Given the description of an element on the screen output the (x, y) to click on. 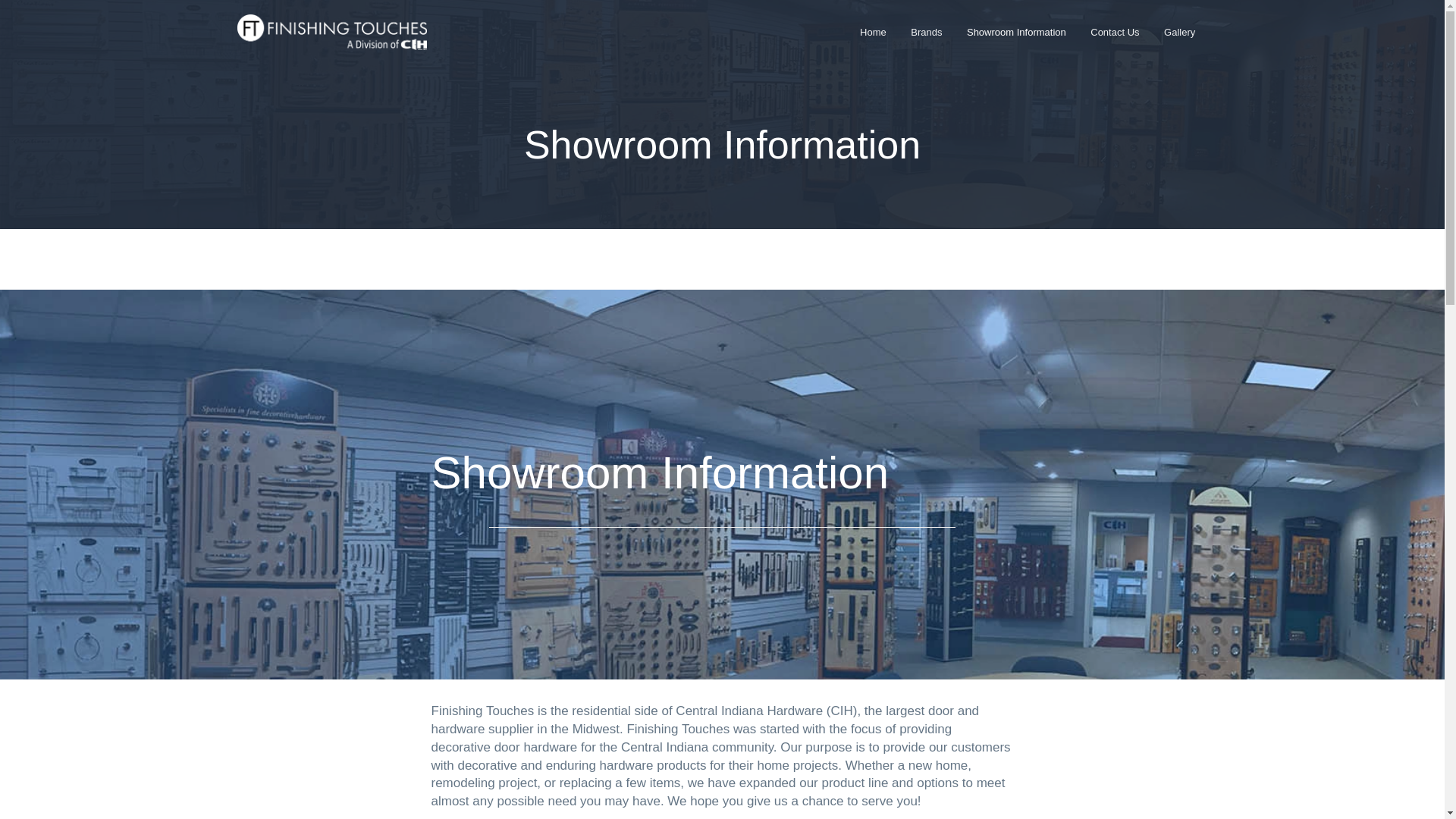
Gallery (1179, 31)
Contact Us (1114, 31)
Showroom Information (1016, 31)
Home (872, 31)
Finishing Touches (292, 56)
Brands (926, 31)
